Given the description of an element on the screen output the (x, y) to click on. 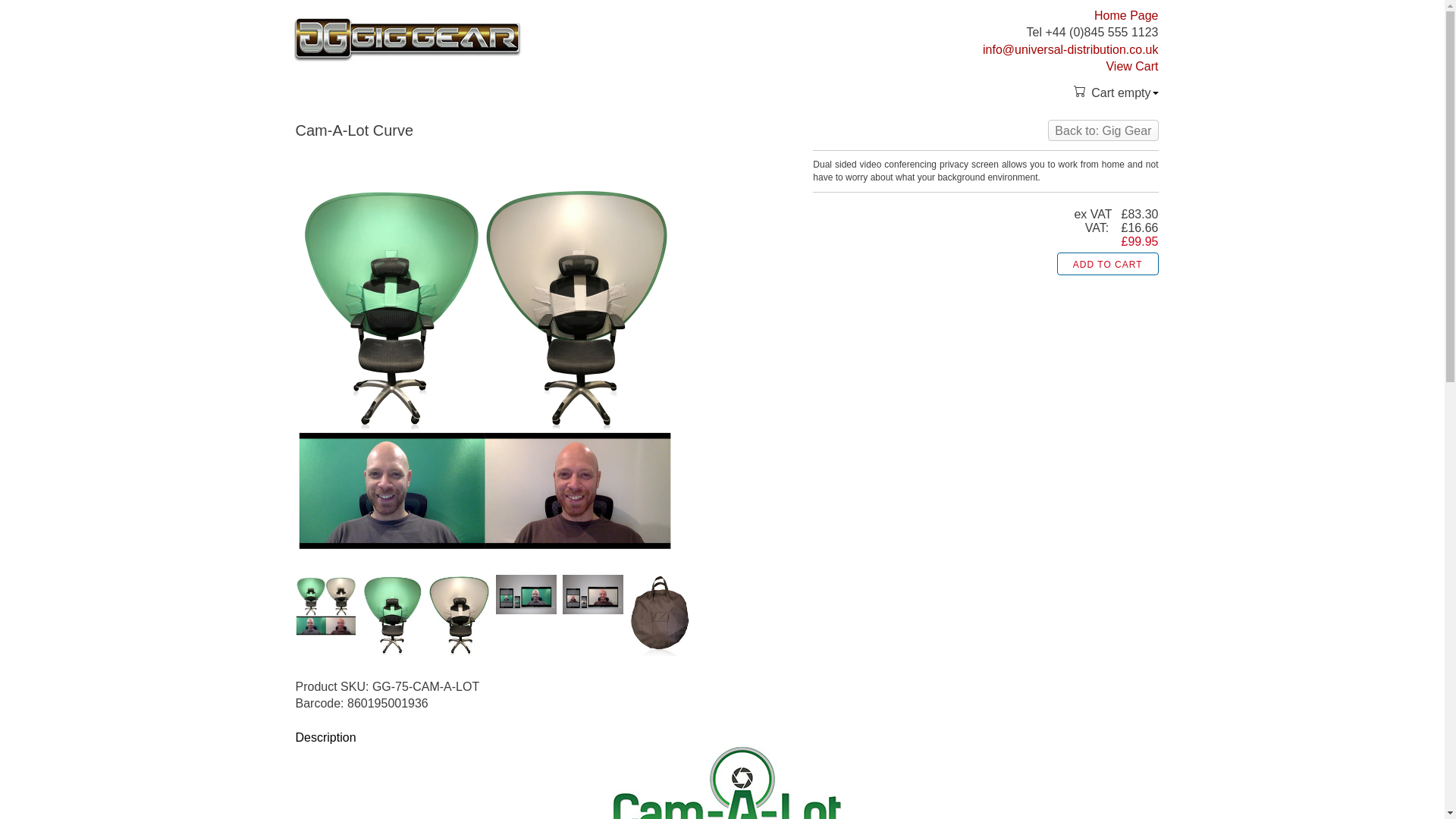
Gig Gear (407, 39)
Add to Cart (1107, 263)
View Cart (1131, 65)
Home Page (1126, 15)
Add to Cart (1107, 263)
Gig Gear (1102, 129)
Cam-A-Lot Screen (485, 360)
Add to Cart (1107, 263)
Back to: Gig Gear (1102, 129)
Gig Gear (407, 38)
Cart empty (1114, 93)
